Given the description of an element on the screen output the (x, y) to click on. 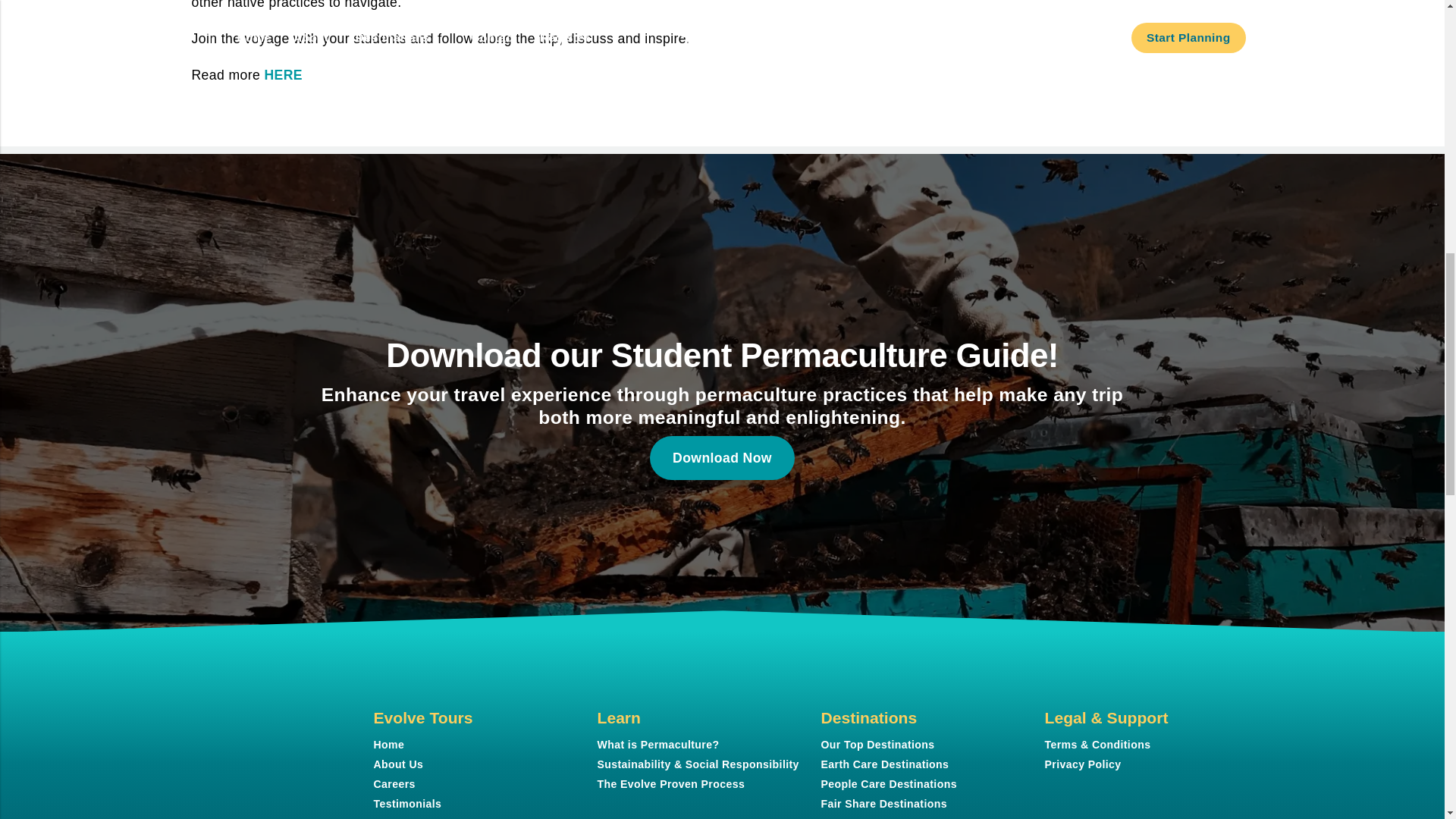
HERE (282, 74)
Download Now (721, 457)
